Given the description of an element on the screen output the (x, y) to click on. 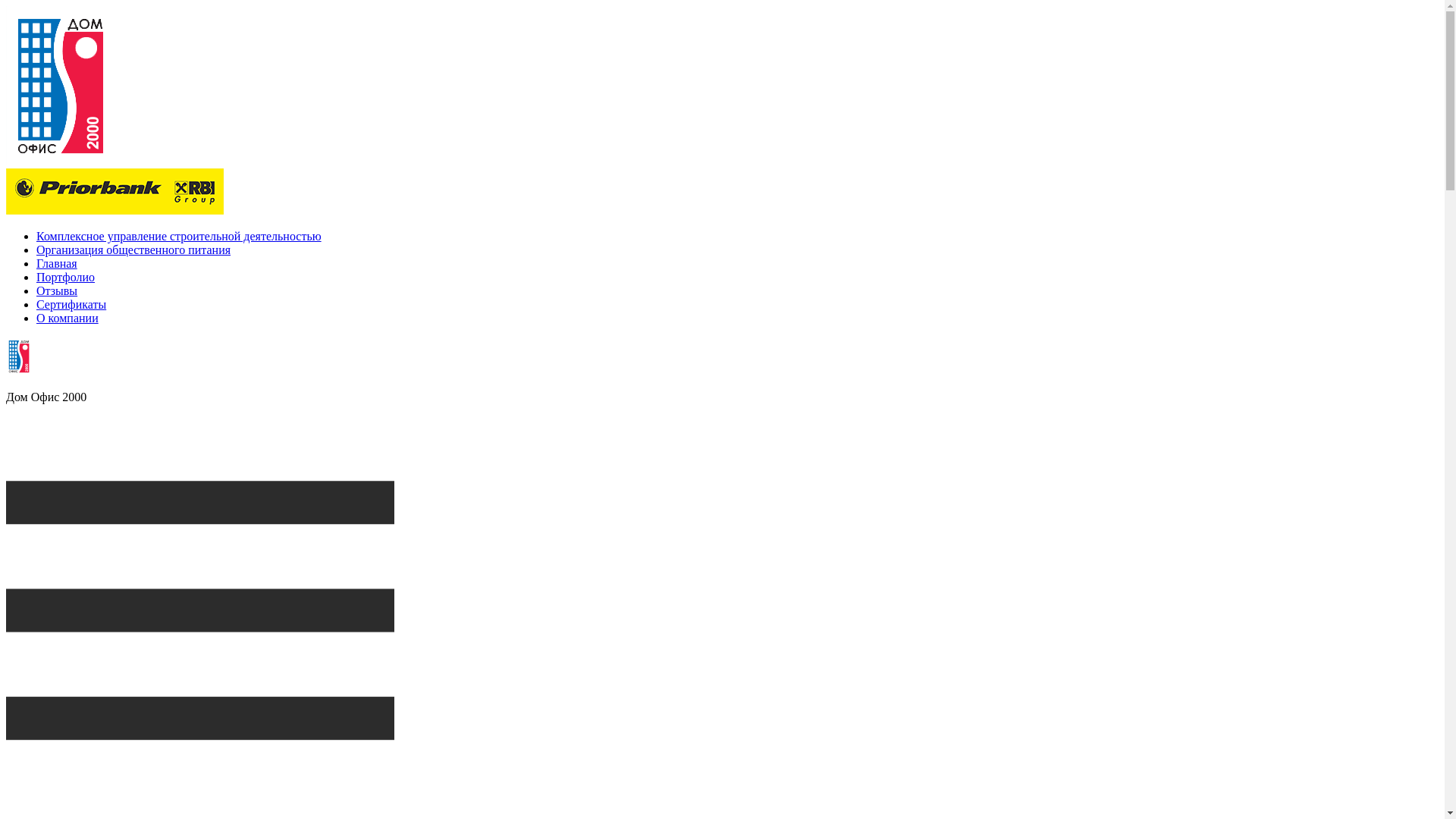
Priorbank Element type: hover (114, 191)
